Given the description of an element on the screen output the (x, y) to click on. 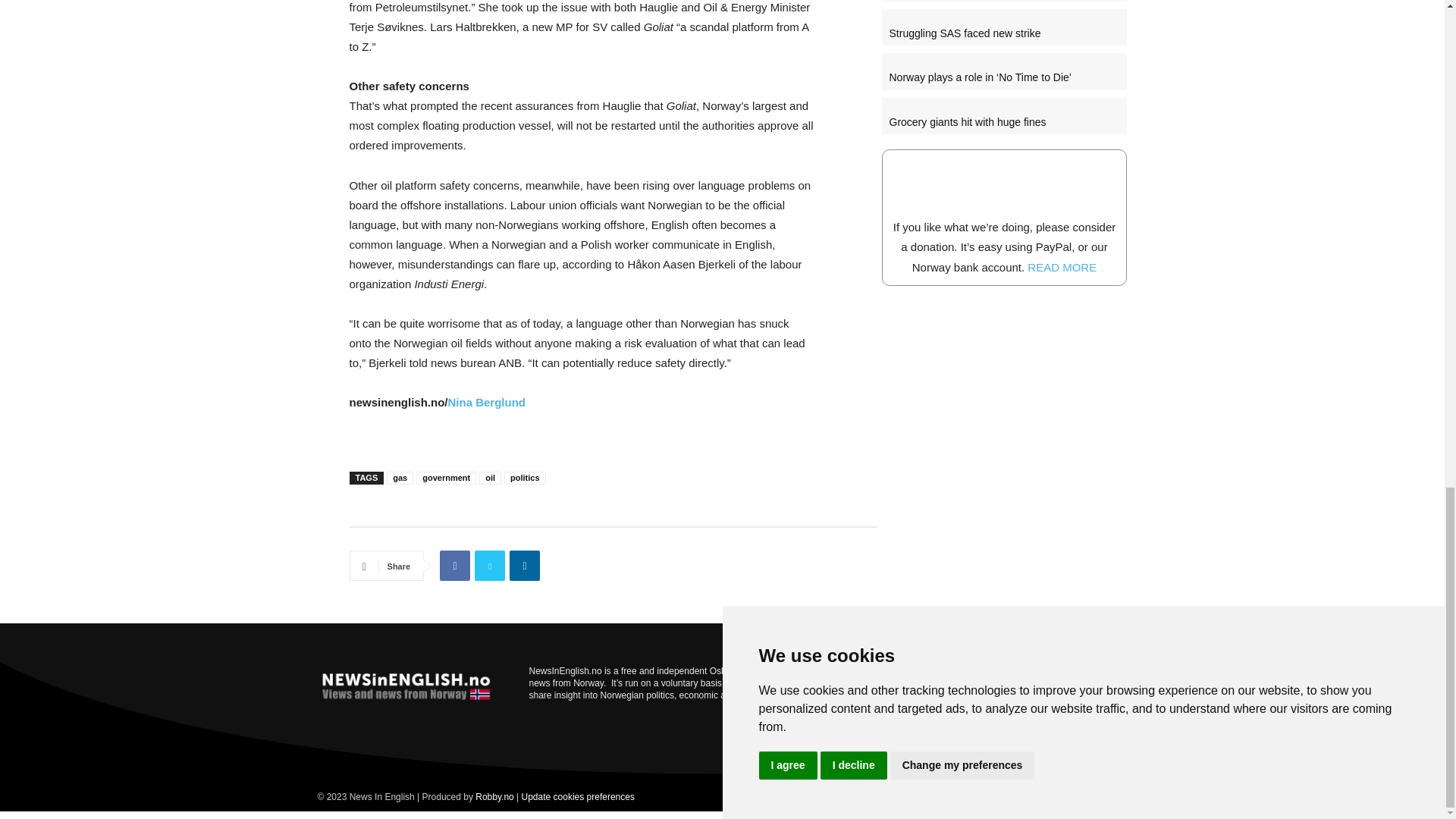
Linkedin (524, 565)
Facebook (454, 565)
Twitter (489, 565)
